Given the description of an element on the screen output the (x, y) to click on. 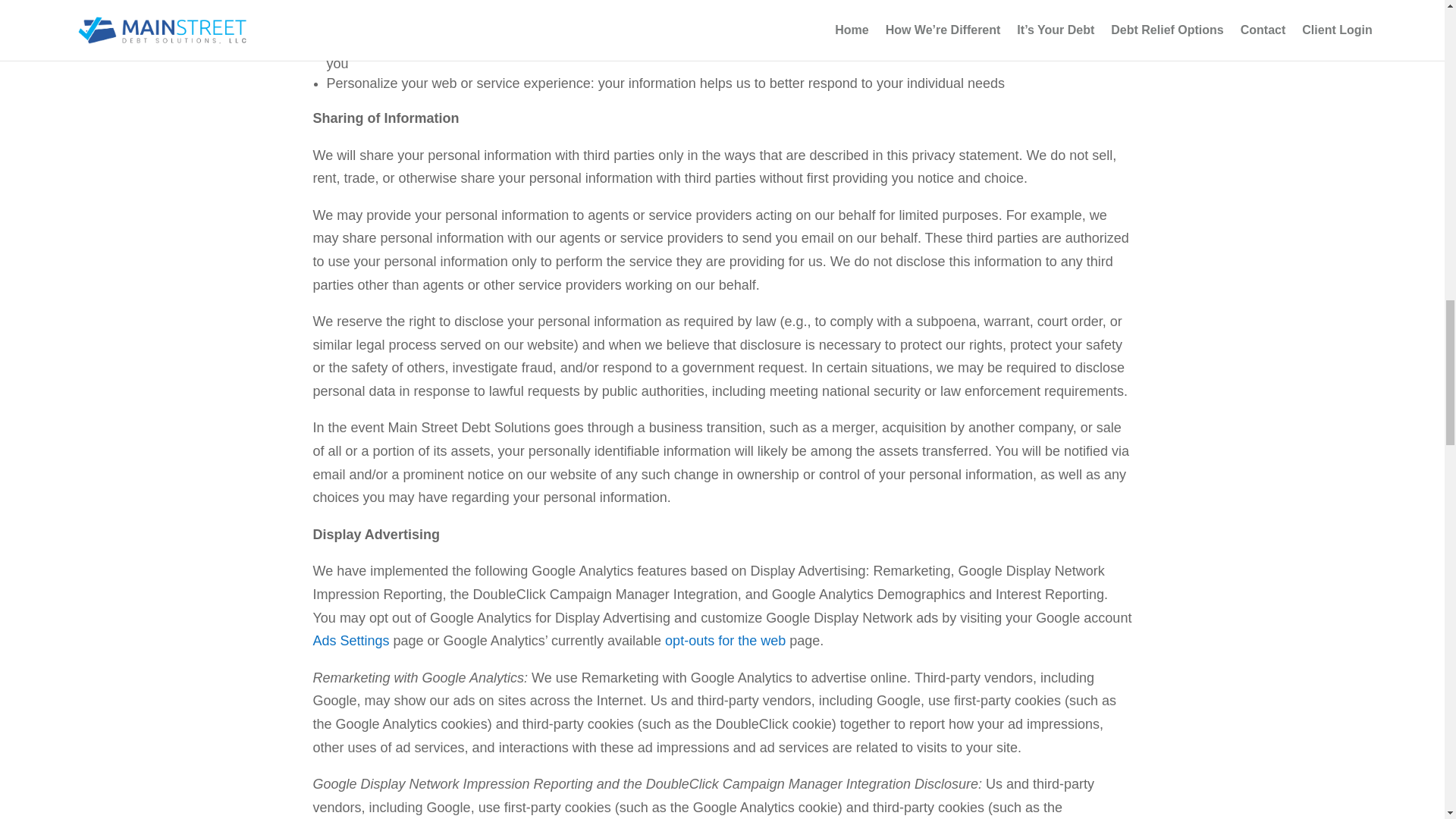
Ads Settings (350, 640)
opt-outs for the web (725, 640)
